Given the description of an element on the screen output the (x, y) to click on. 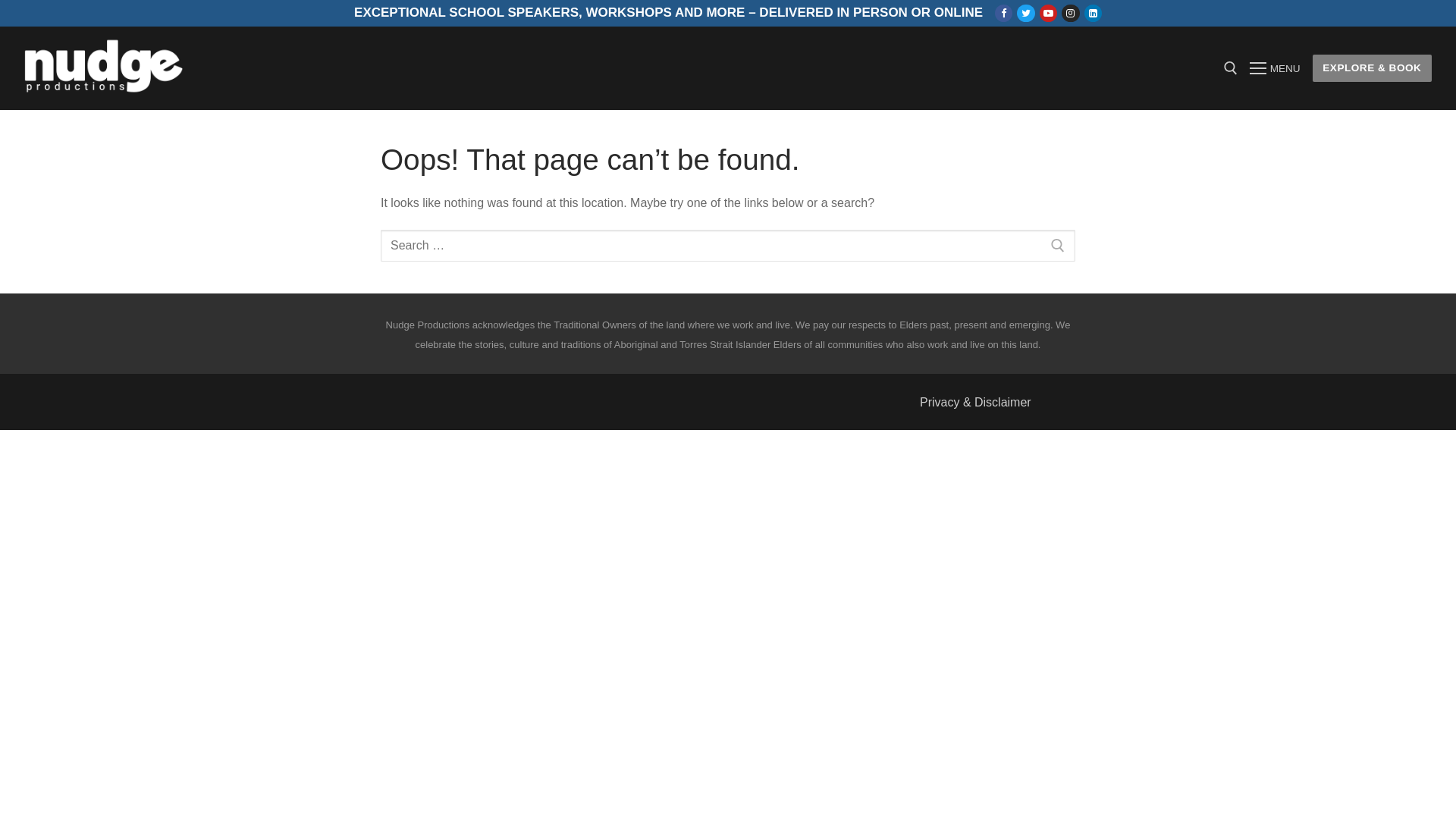
MENU Element type: text (1274, 68)
Privacy & Disclaimer Element type: text (975, 401)
Facebook Element type: hover (1003, 13)
LinkedIn Element type: hover (1093, 13)
Search for: Element type: hover (727, 245)
EXPLORE & BOOK Element type: text (1371, 68)
Twitter Element type: hover (1026, 13)
Youtube Element type: hover (1048, 13)
Instagram Element type: hover (1070, 13)
